Given the description of an element on the screen output the (x, y) to click on. 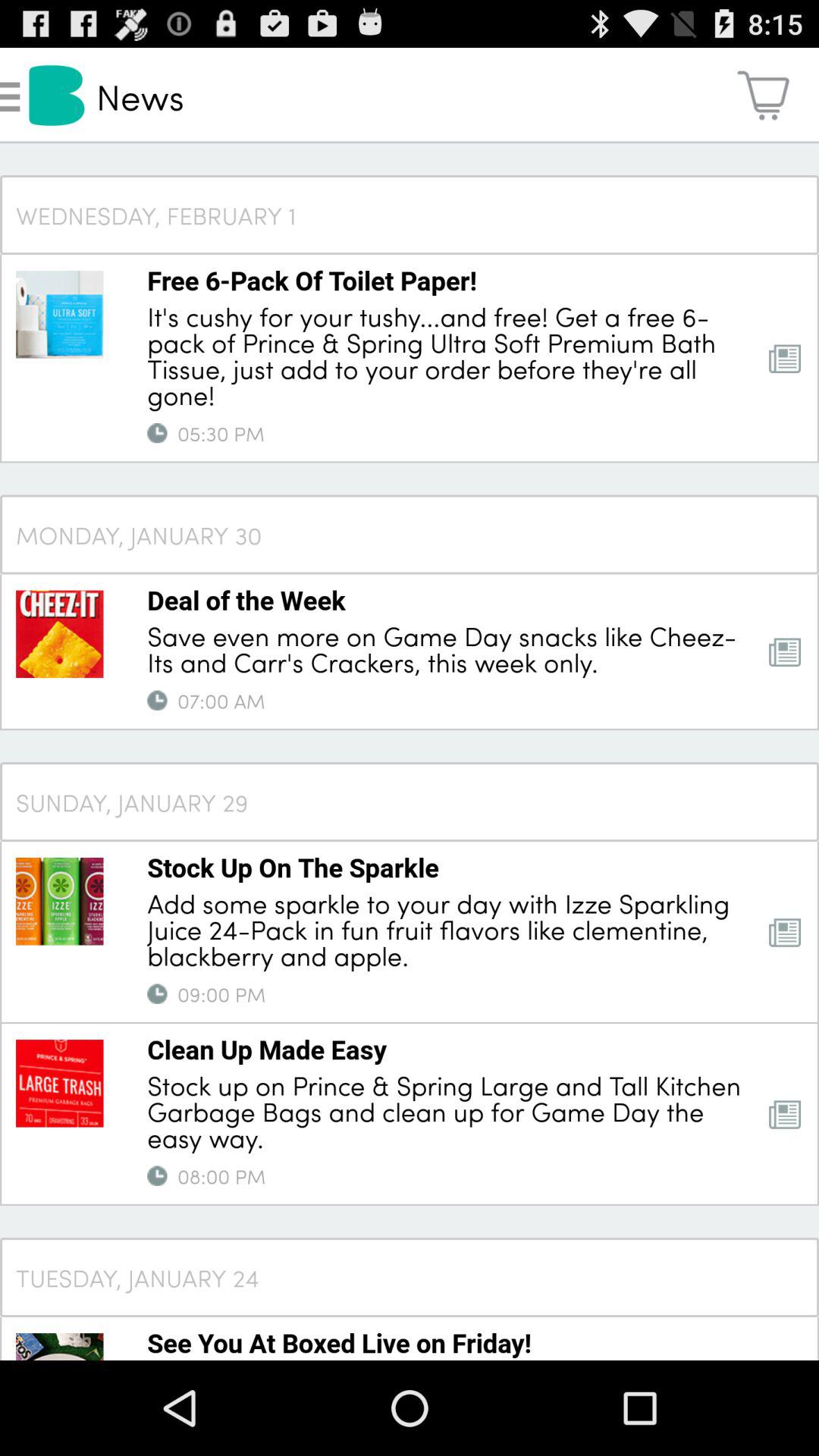
click wednesday, february 1 icon (409, 214)
